Given the description of an element on the screen output the (x, y) to click on. 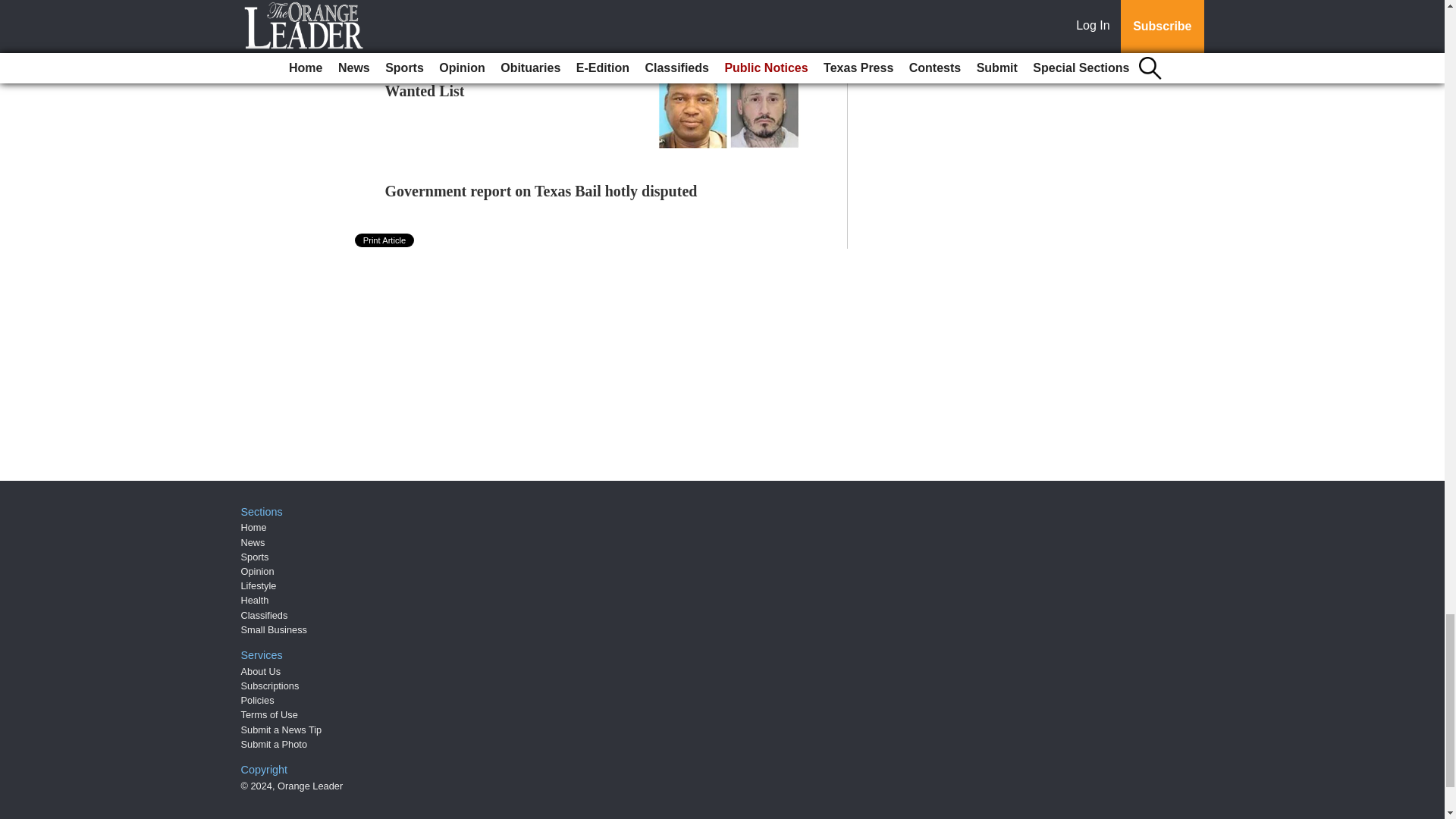
Government report on Texas Bail hotly disputed (541, 190)
Two added to Texas 10 Most Wanted List (476, 81)
Government report on Texas Bail hotly disputed (541, 190)
Two added to Texas 10 Most Wanted List (476, 81)
Print Article (384, 240)
